Given the description of an element on the screen output the (x, y) to click on. 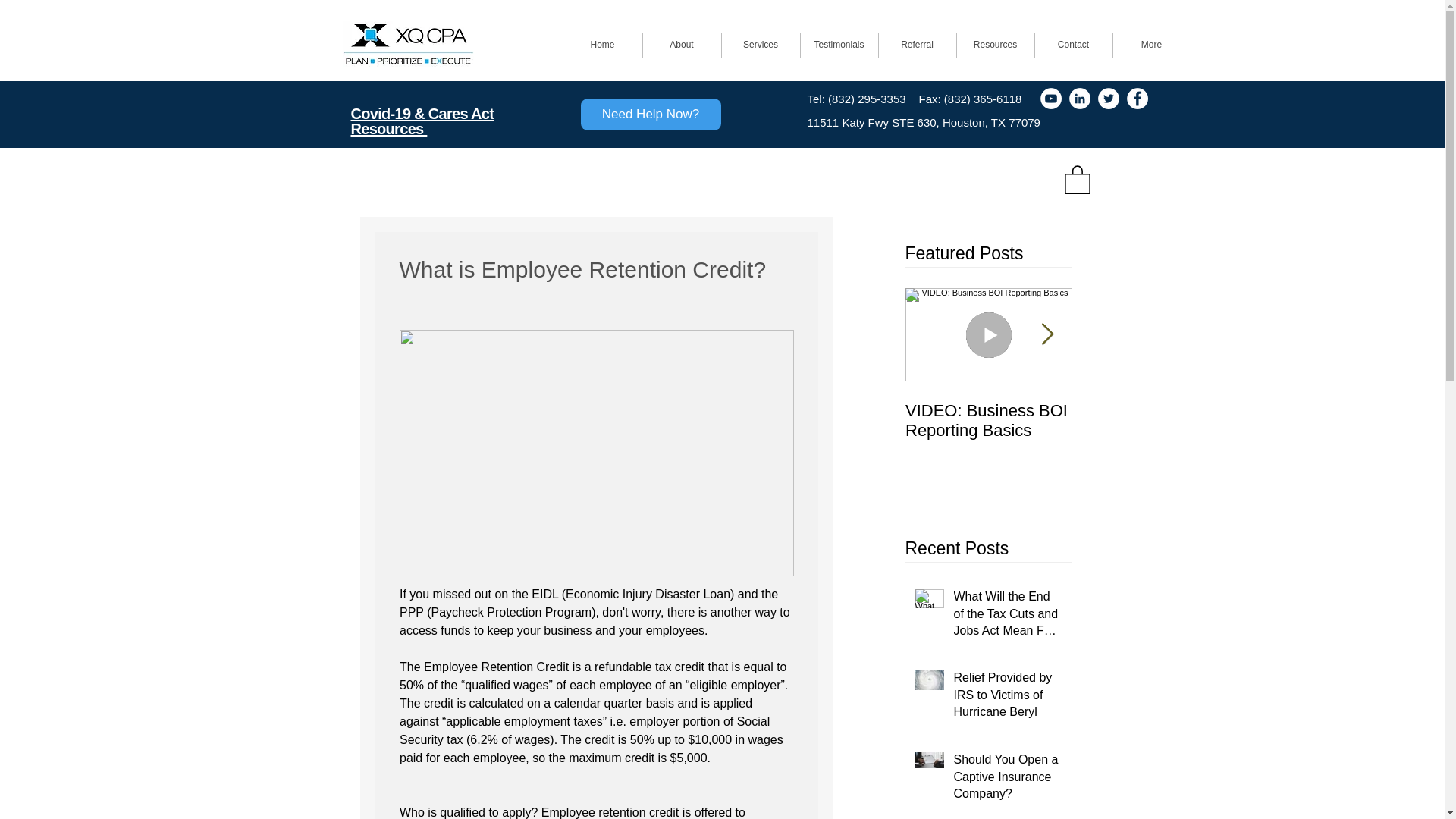
Resources (994, 44)
About (681, 44)
XQ-LOGO-SMALL-JPG.jpg (408, 43)
Referral (916, 44)
Testimonials (838, 44)
Home (602, 44)
Services (760, 44)
11511 Katy Fwy STE 630, Houston, TX 77079 (922, 122)
Contact (1072, 44)
Need Help Now? (650, 114)
